Given the description of an element on the screen output the (x, y) to click on. 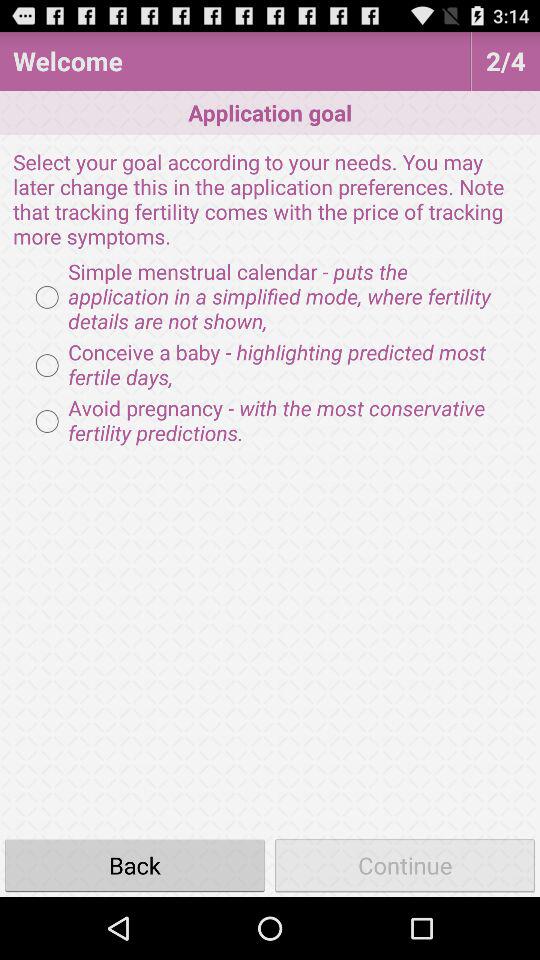
press the icon at the bottom right corner (405, 864)
